Given the description of an element on the screen output the (x, y) to click on. 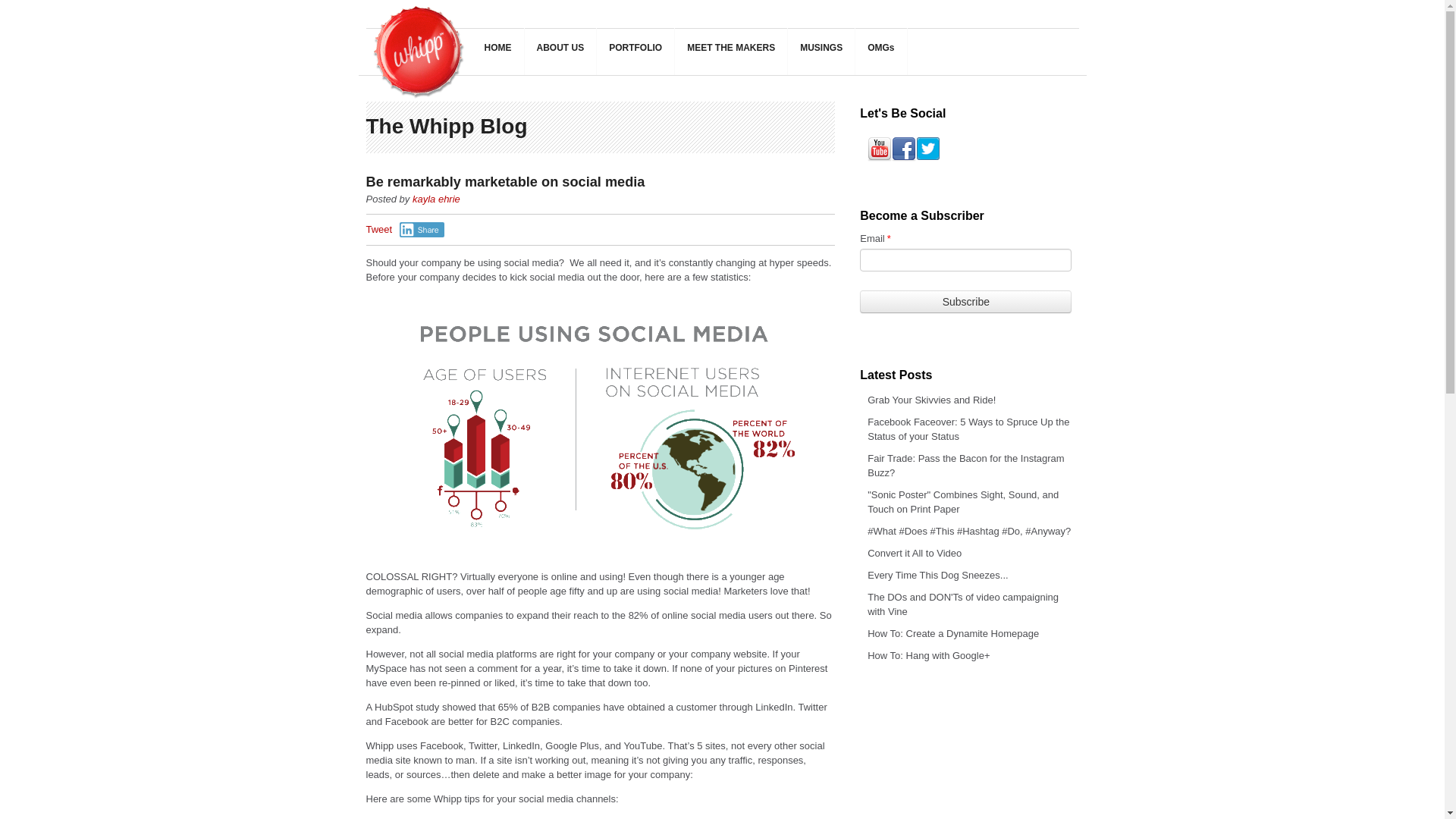
PORTFOLIO (635, 51)
Follow us on Facebook (903, 149)
Every Time This Dog Sneezes... (937, 574)
Fair Trade: Pass the Bacon for the Instagram Buzz? (965, 465)
Subscribe (965, 301)
Tweet (378, 229)
The DOs and DON'Ts of video campaigning with Vine (962, 604)
How To: Create a Dynamite Homepage (953, 633)
MEET THE MAKERS (731, 51)
OMGs (881, 51)
Follow us on YouTube (879, 149)
Convert it All to Video (913, 552)
HOME (497, 51)
